Given the description of an element on the screen output the (x, y) to click on. 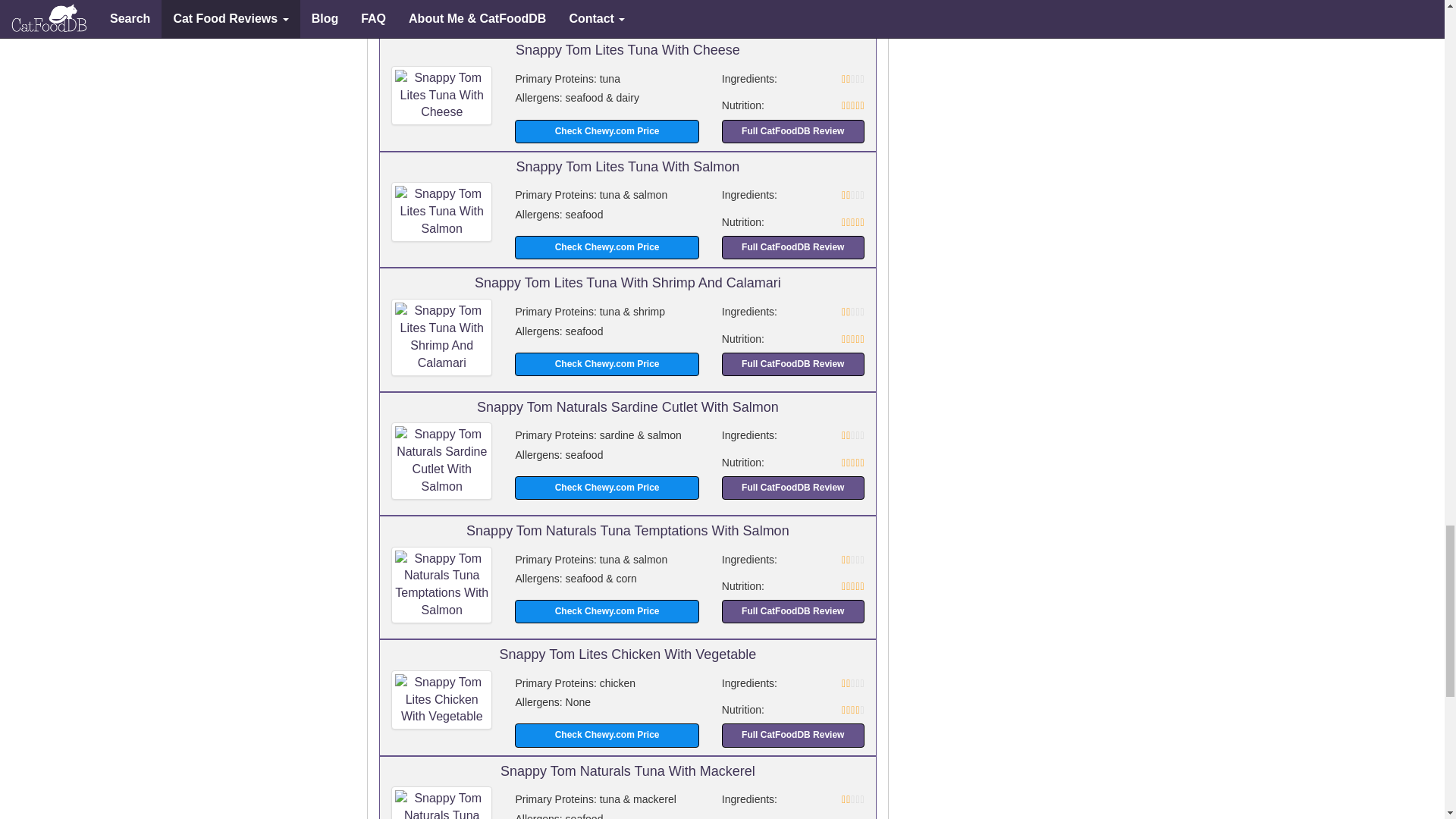
Snappy Tom Naturals Tuna With Mackerel (441, 802)
Snappy Tom Lites Tuna With Salmon (441, 211)
Snappy Tom Naturals Sardine Cutlet With Salmon (441, 460)
Snappy Tom Lites Tuna With Cheese (441, 96)
Snappy Tom Naturals Tuna Temptations With Salmon (441, 585)
Snappy Tom Lites Chicken With Vegetable (441, 700)
Snappy Tom Lites Tuna With Shrimp And Calamari (441, 336)
